Given the description of an element on the screen output the (x, y) to click on. 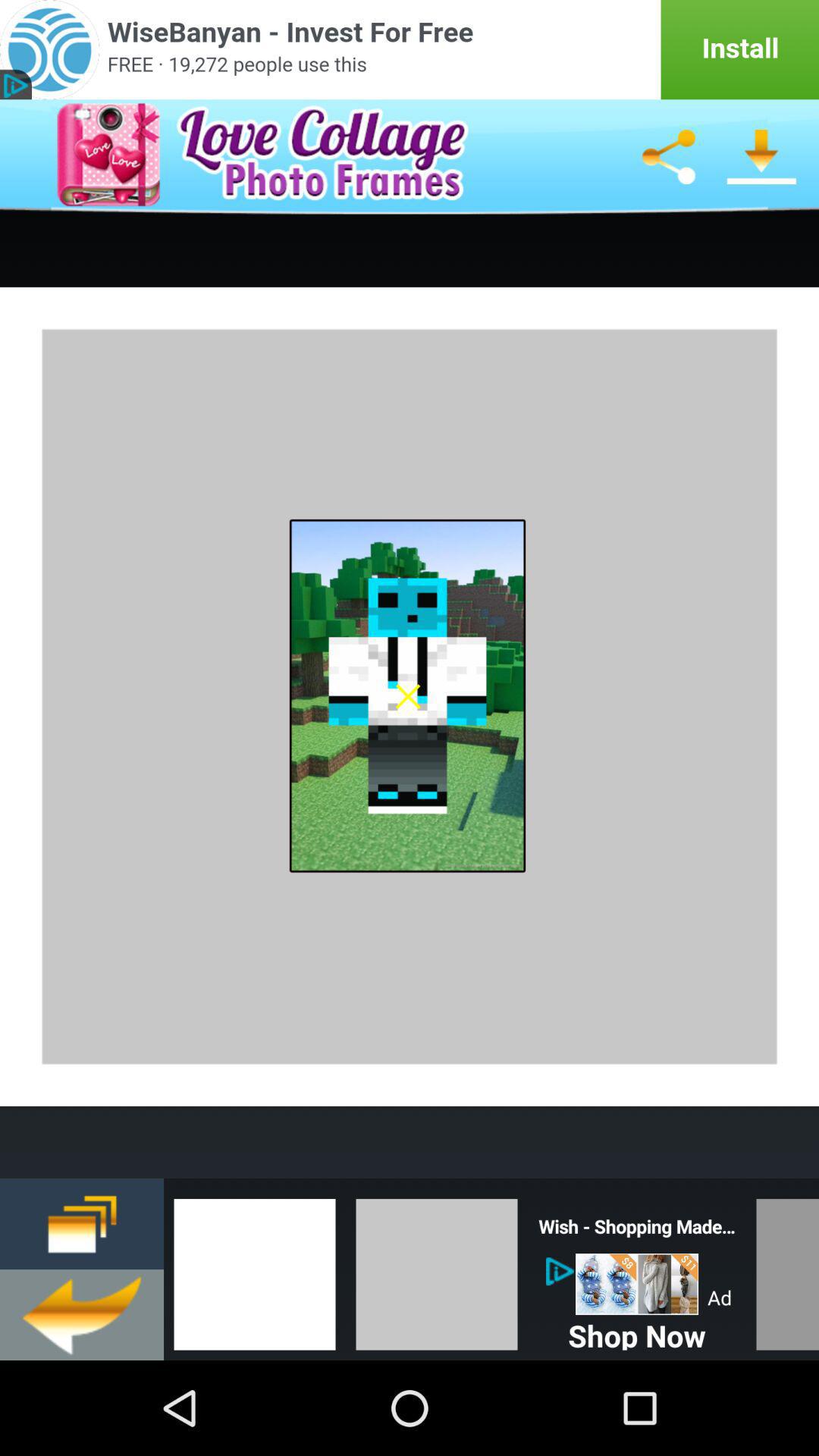
share option (668, 156)
